Given the description of an element on the screen output the (x, y) to click on. 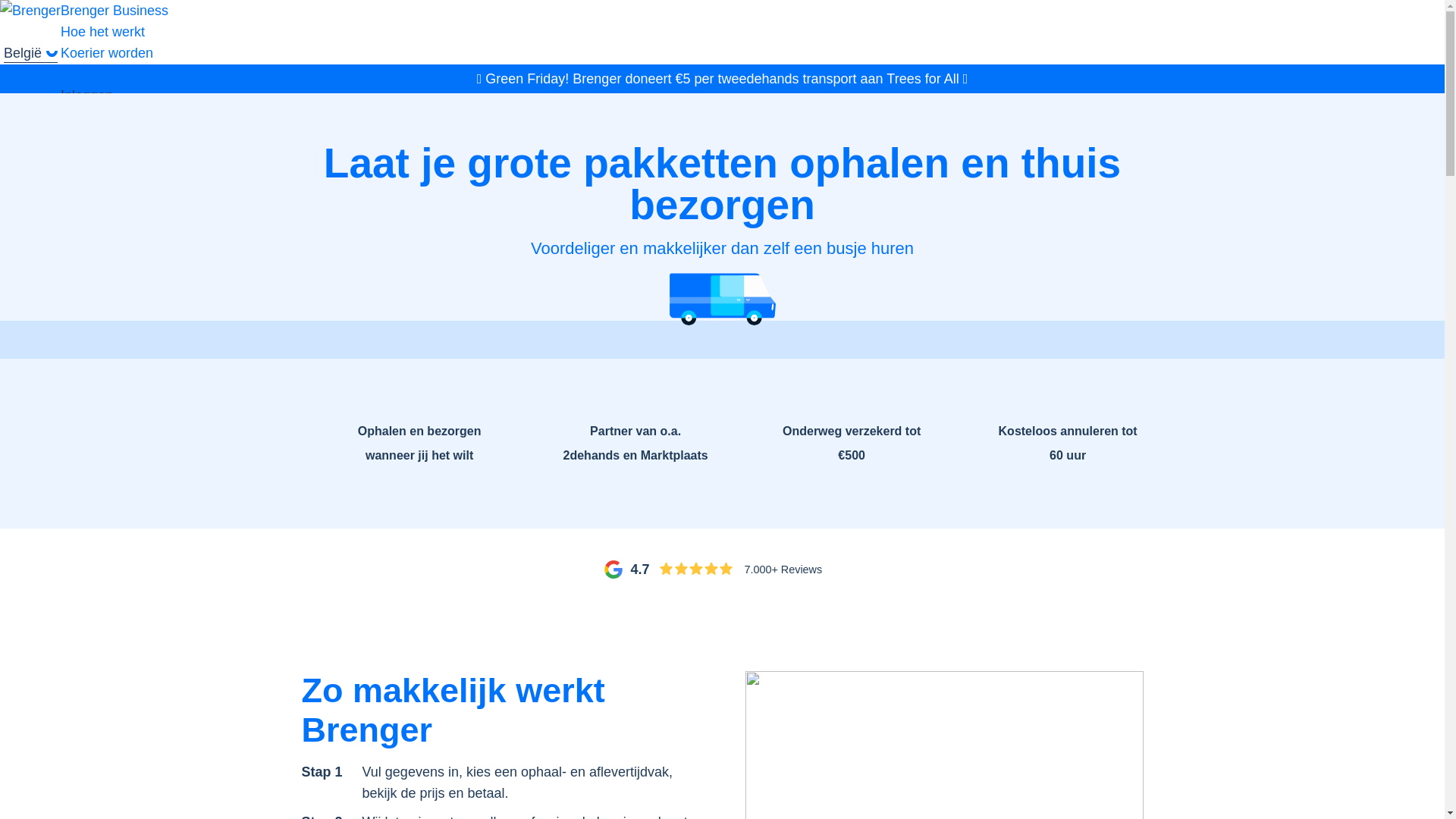
Koerier worden Element type: text (106, 52)
Brenger Business Element type: text (114, 10)
Prijzen Element type: text (81, 73)
Als koerier Element type: text (92, 137)
4.7
7.000+ Reviews Element type: text (722, 569)
Hoe het werkt Element type: text (102, 31)
Als klant Element type: text (86, 116)
